Given the description of an element on the screen output the (x, y) to click on. 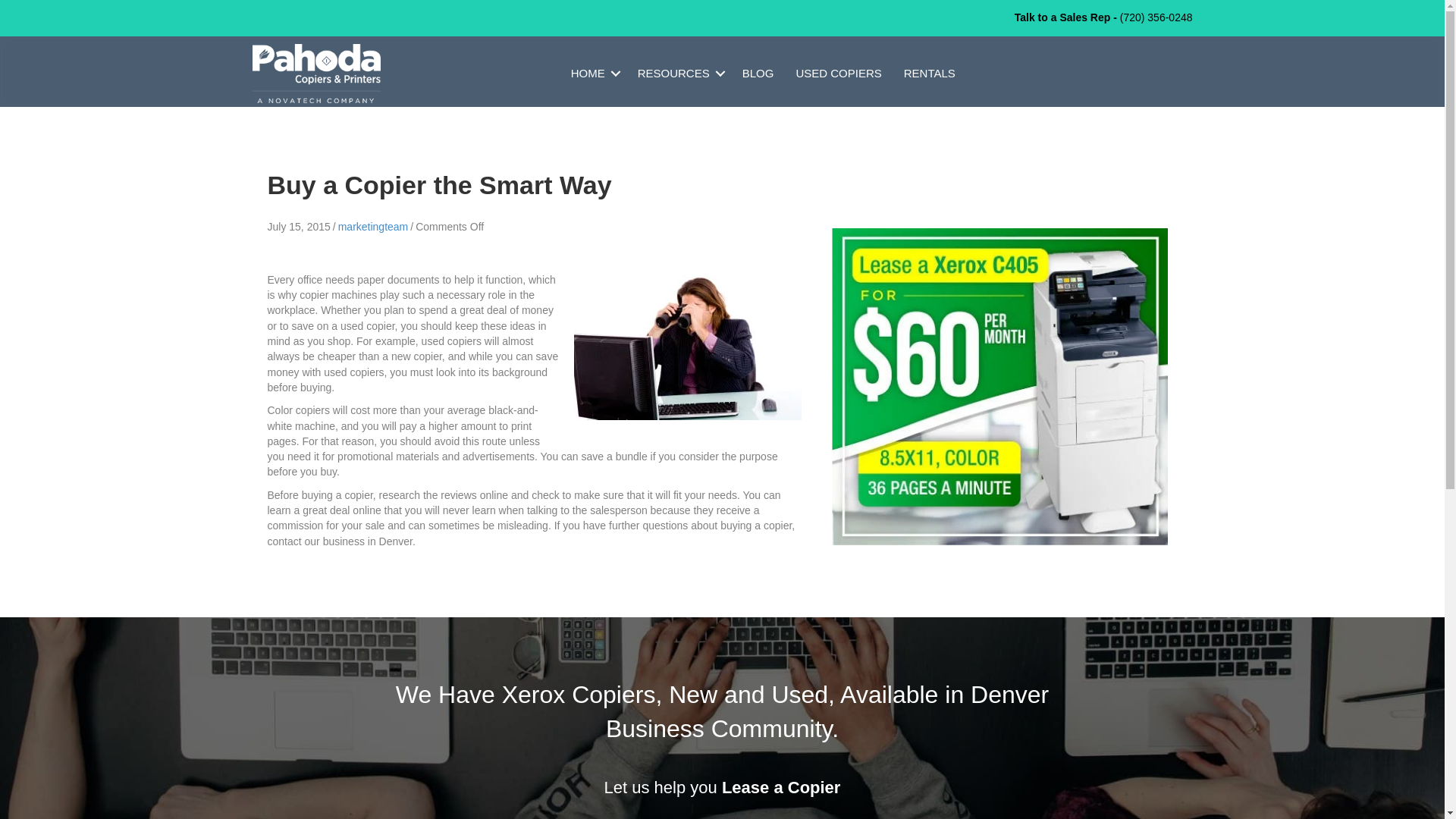
PahodaLogo2022WHITE (315, 73)
BLOG (758, 72)
big-Pahoda-C405-Ad-1.19.22 (999, 386)
marketingteam (373, 226)
USED COPIERS (837, 72)
HOME (593, 72)
RESOURCES (678, 72)
RENTALS (929, 72)
